Given the description of an element on the screen output the (x, y) to click on. 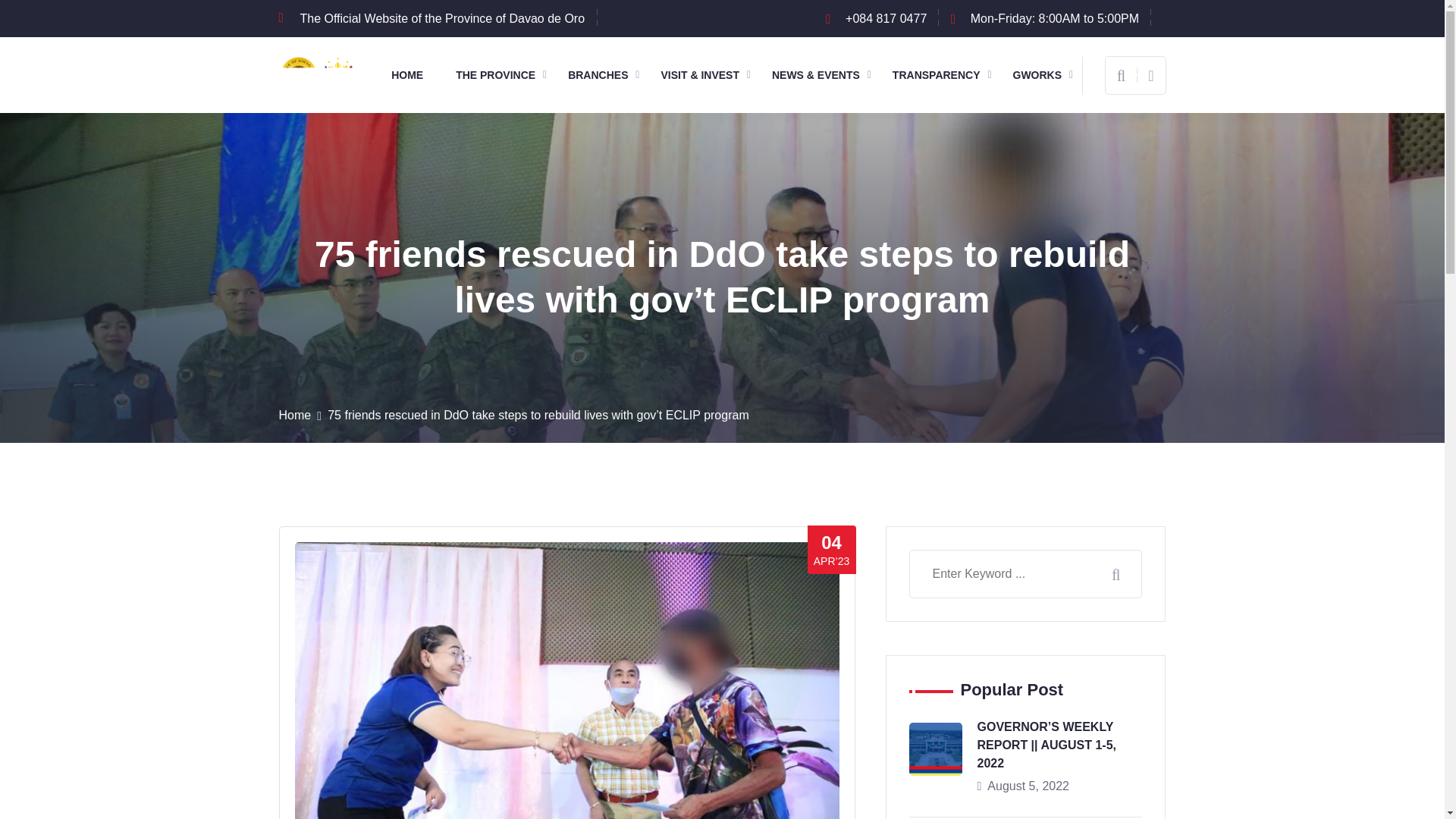
BRANCHES (603, 74)
HOME (412, 74)
Branches (603, 74)
Province of Davao de Oro (319, 73)
TRANSPARENCY (941, 74)
The Province (501, 74)
GWORKS (1043, 74)
Home (412, 74)
THE PROVINCE (501, 74)
